Given the description of an element on the screen output the (x, y) to click on. 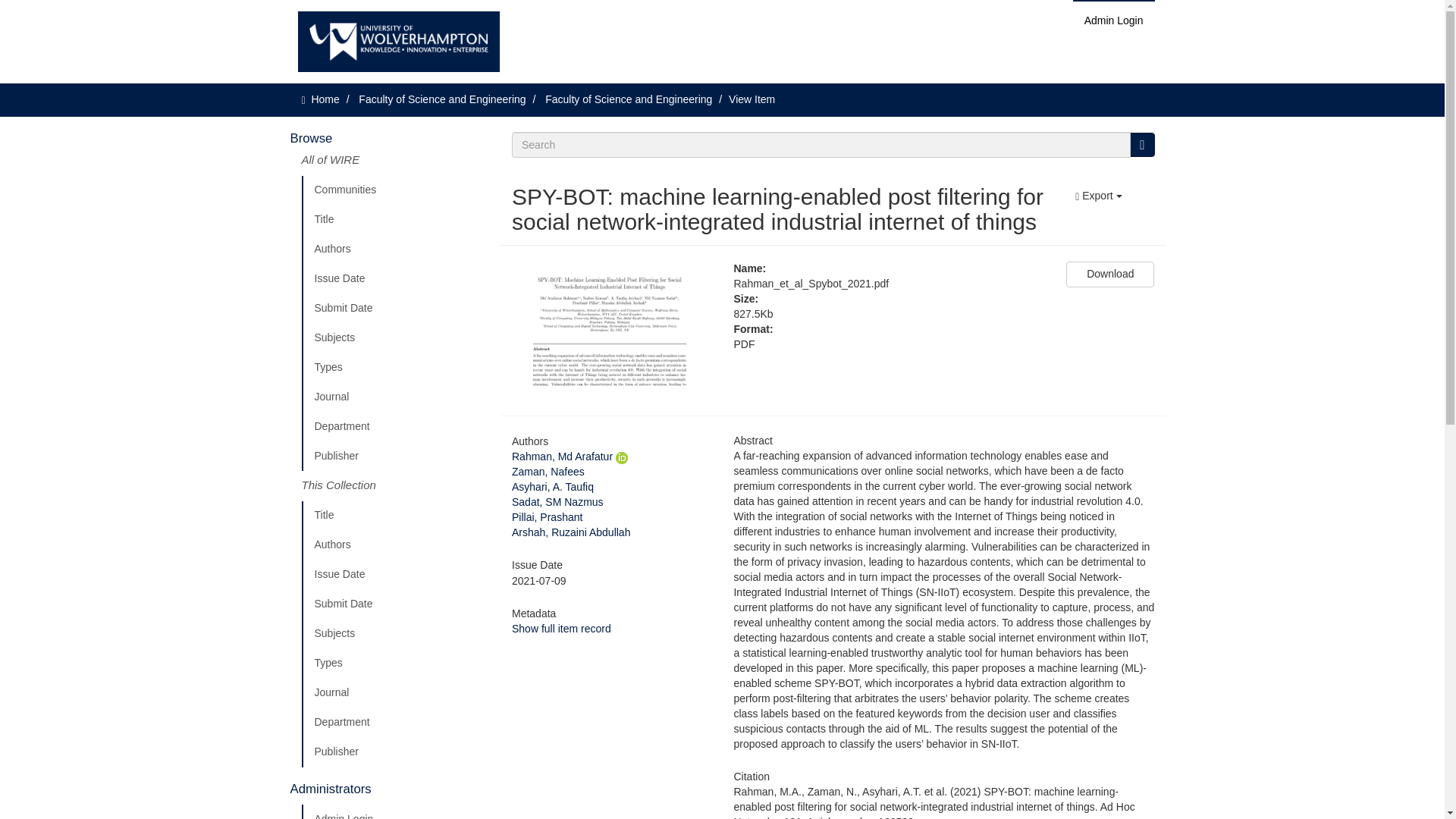
Submit Date (395, 308)
Go (1141, 144)
Home (325, 99)
Subjects (395, 634)
Communities (395, 190)
Publisher (395, 752)
Title (395, 515)
Faculty of Science and Engineering (627, 99)
Types (395, 663)
This Collection (395, 485)
Admin Login (1113, 19)
Department (395, 722)
Authors (395, 544)
Faculty of Science and Engineering (441, 99)
Journal (395, 397)
